Given the description of an element on the screen output the (x, y) to click on. 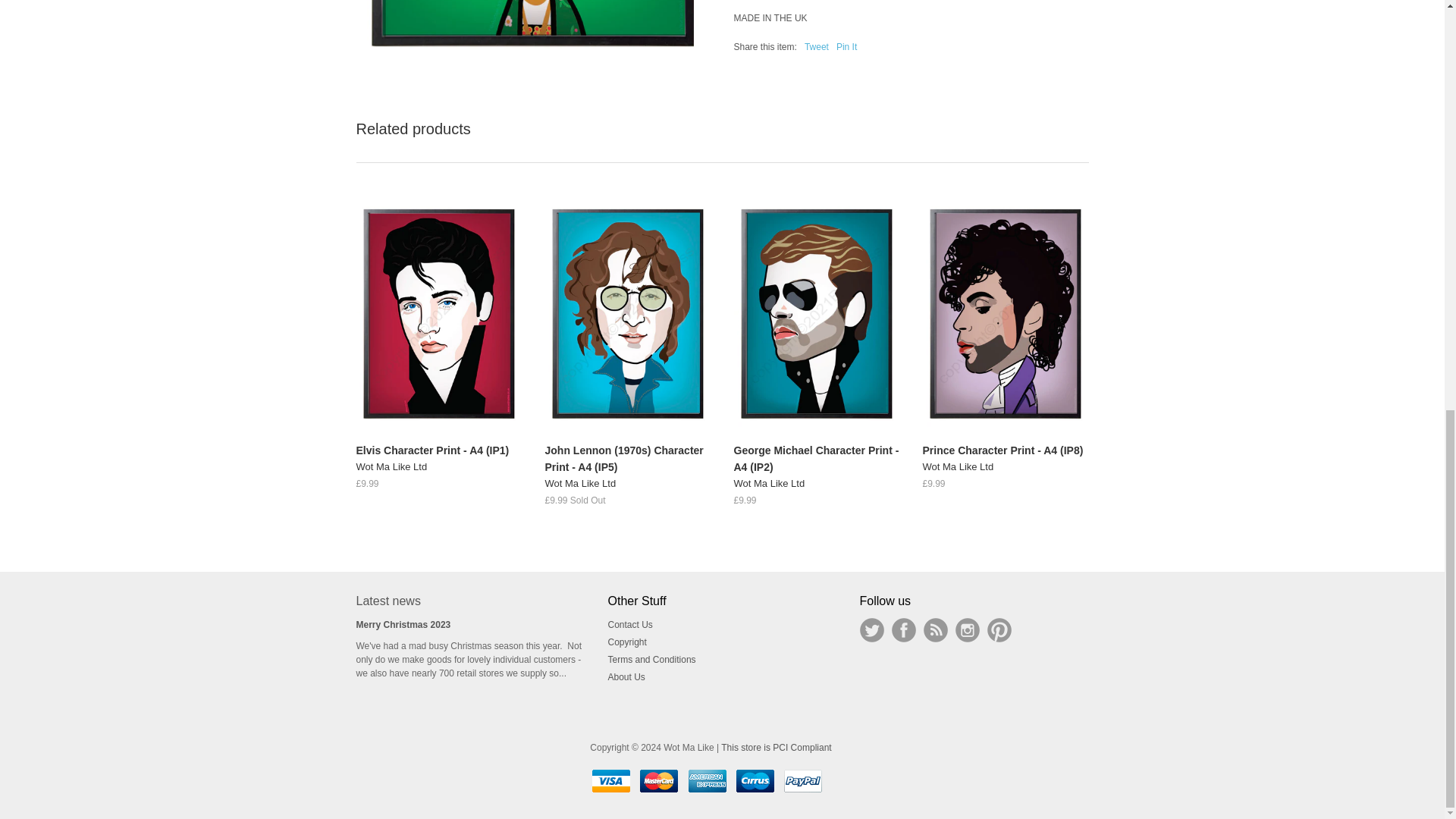
Wot Ma Like  news (935, 630)
Terms and Conditions (651, 659)
Contact Us (630, 624)
Wot Ma Like  on Twitter (871, 630)
Wot Ma Like  on Instagram (967, 630)
About Us (626, 676)
Wot Ma Like  on Pinterest (999, 630)
Copyright (627, 642)
Wot Ma Like  on Facebook (903, 630)
